Given the description of an element on the screen output the (x, y) to click on. 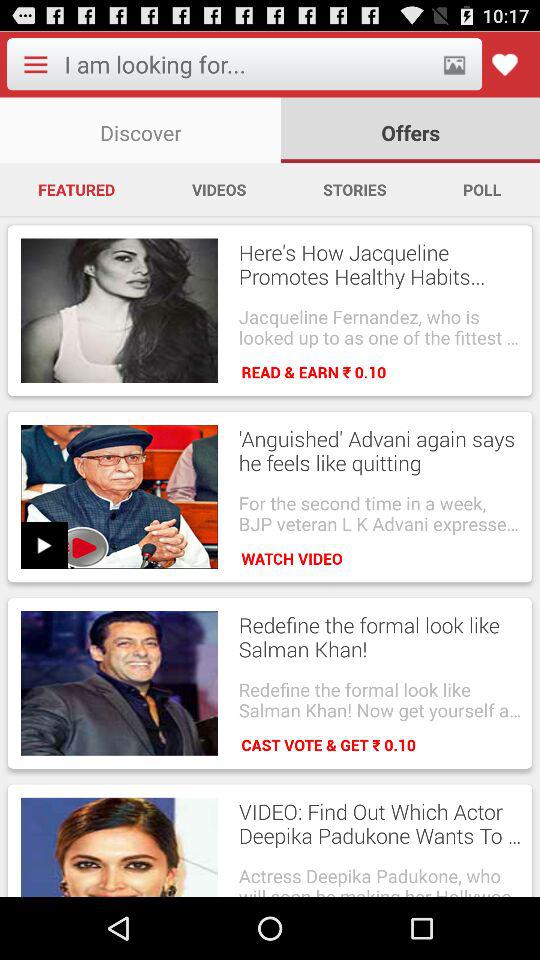
tap the app below offers icon (482, 189)
